Given the description of an element on the screen output the (x, y) to click on. 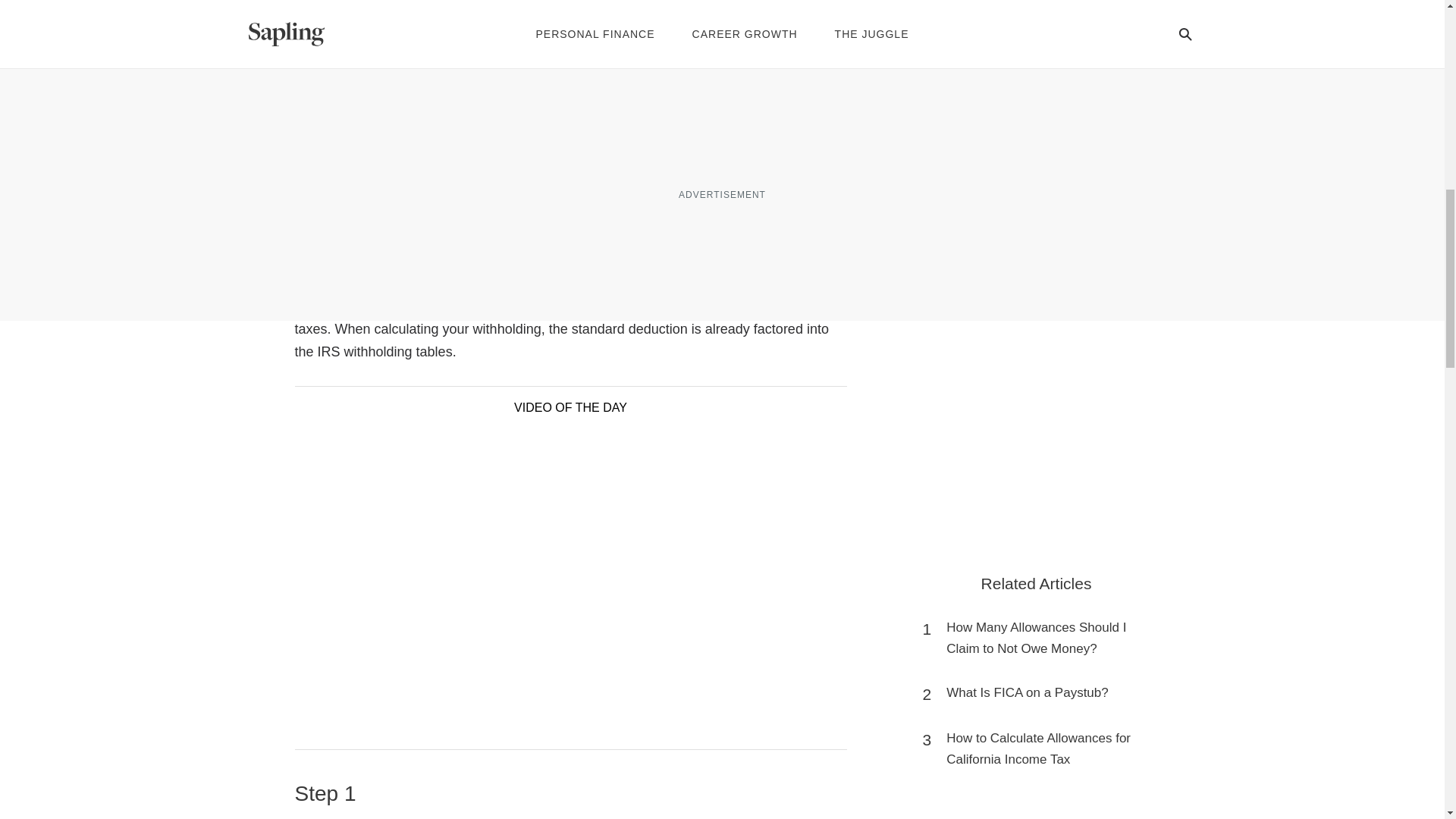
3rd party ad content (1035, 815)
What Is FICA on a Paystub? (1027, 692)
How to Calculate Allowances for California Income Tax (1043, 749)
How Many Allowances Should I Claim to Not Owe Money? (1043, 638)
